Given the description of an element on the screen output the (x, y) to click on. 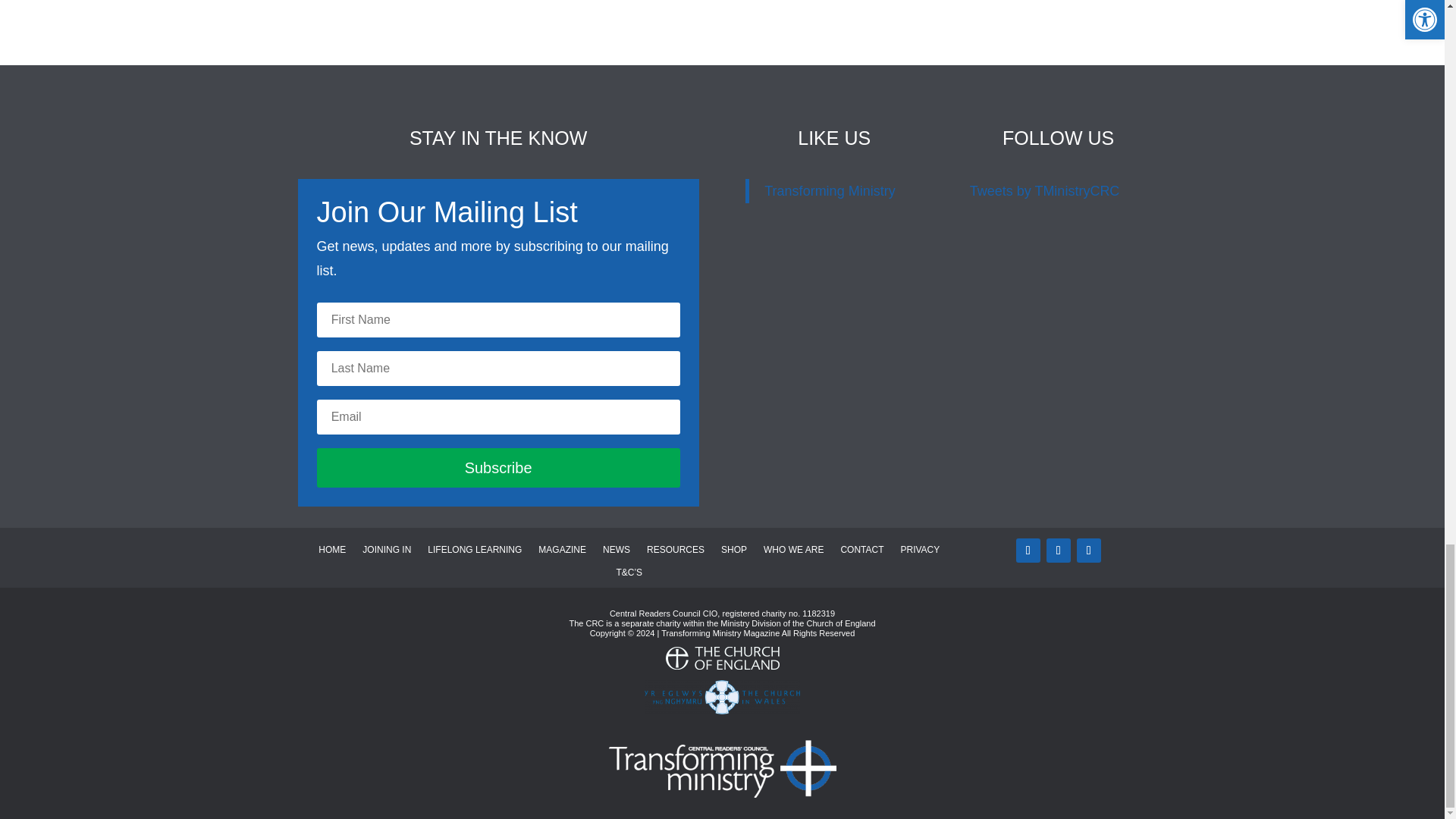
Follow on Instagram (1088, 550)
Follow on Twitter (1028, 550)
Follow on Facebook (1058, 550)
